Given the description of an element on the screen output the (x, y) to click on. 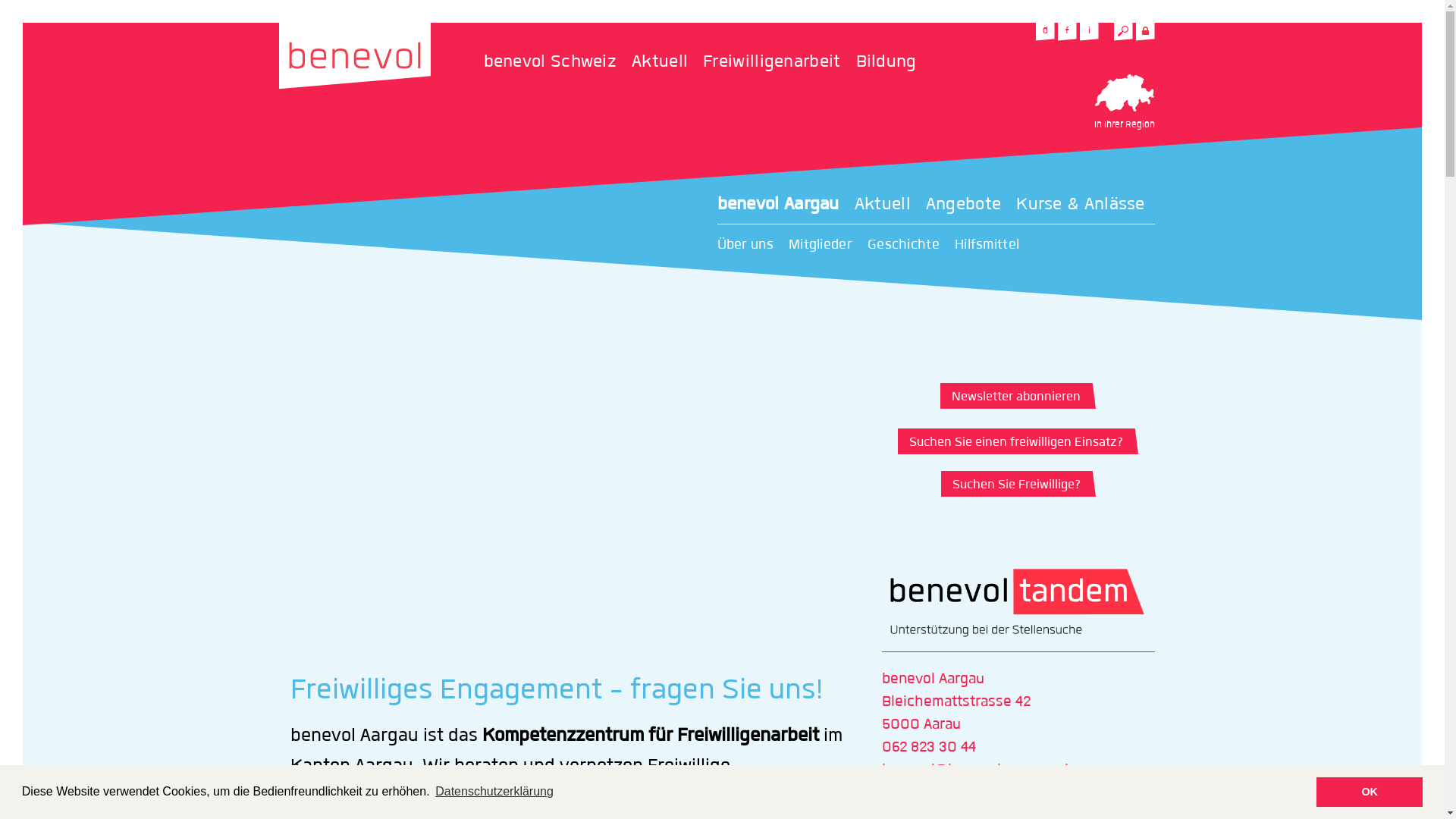
Geschichte Element type: text (910, 244)
Freiwilligenarbeit Element type: text (778, 62)
In Ihrer Region Element type: text (1123, 104)
benevol Schweiz Element type: text (557, 62)
OK Element type: text (1369, 791)
Angebote Element type: text (970, 204)
Newsletter abonnieren Element type: text (1014, 395)
d Element type: text (1044, 30)
Bildung Element type: text (886, 62)
Aktuell Element type: text (666, 62)
f Element type: text (1066, 30)
Mitglieder Element type: text (827, 244)
Hilfsmittel Element type: text (994, 244)
i Element type: text (1088, 30)
benevol@benevol-aargau.ch Element type: text (977, 769)
Suchen Sie einen freiwilligen Einsatz? Element type: text (1013, 441)
Benevol Element type: hover (354, 55)
Aktuell Element type: text (889, 204)
benevol Aargau Element type: text (785, 204)
Suchen Sie Freiwillige? Element type: text (1013, 483)
